Given the description of an element on the screen output the (x, y) to click on. 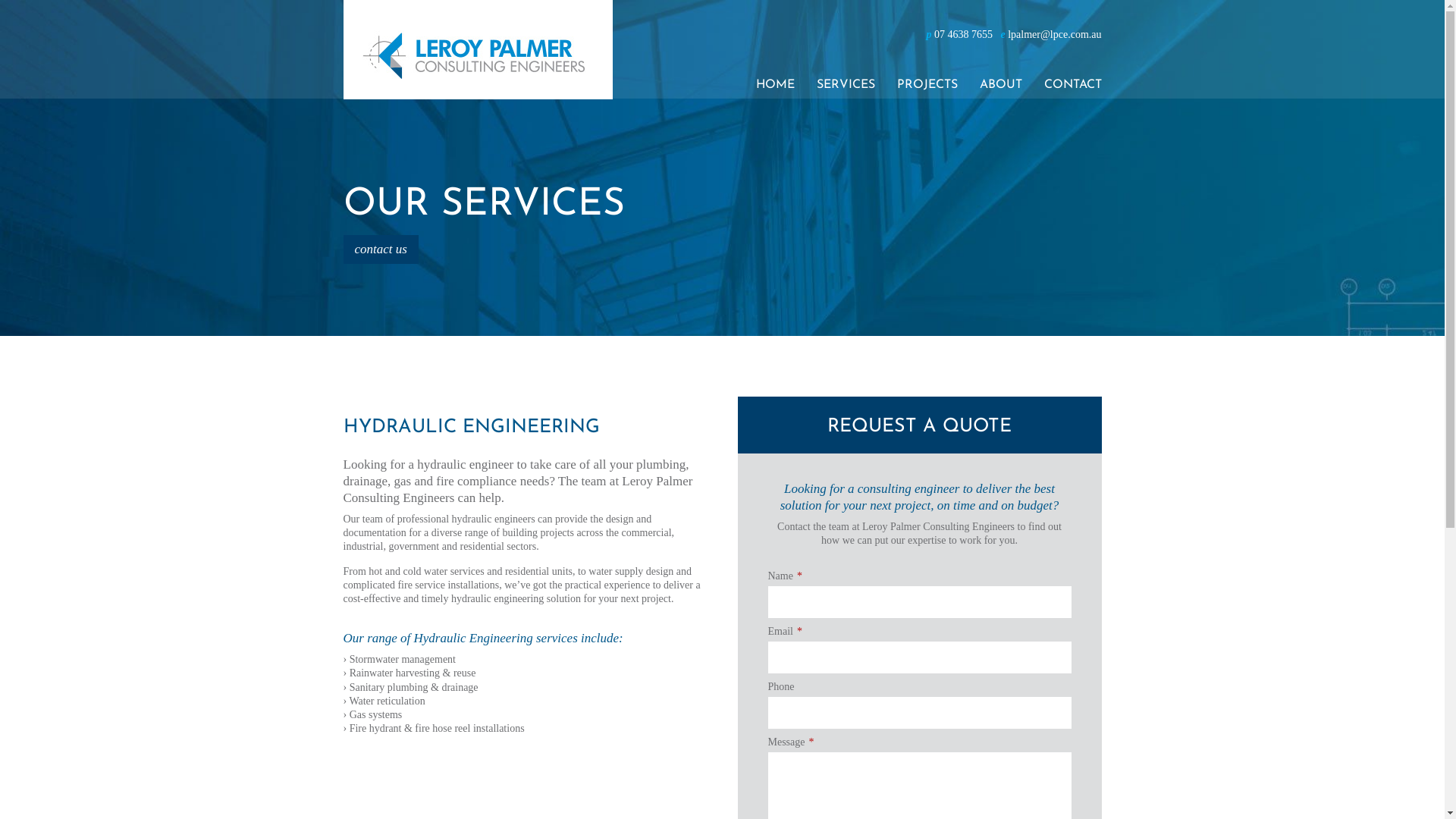
CONTACT Element type: text (1071, 82)
PROJECTS Element type: text (926, 82)
contact us Element type: text (379, 249)
07 4638 7655 Element type: text (963, 34)
ABOUT Element type: text (1000, 82)
SERVICES Element type: text (844, 82)
HOME Element type: text (774, 82)
lpalmer@lpce.com.au Element type: text (1054, 34)
